Given the description of an element on the screen output the (x, y) to click on. 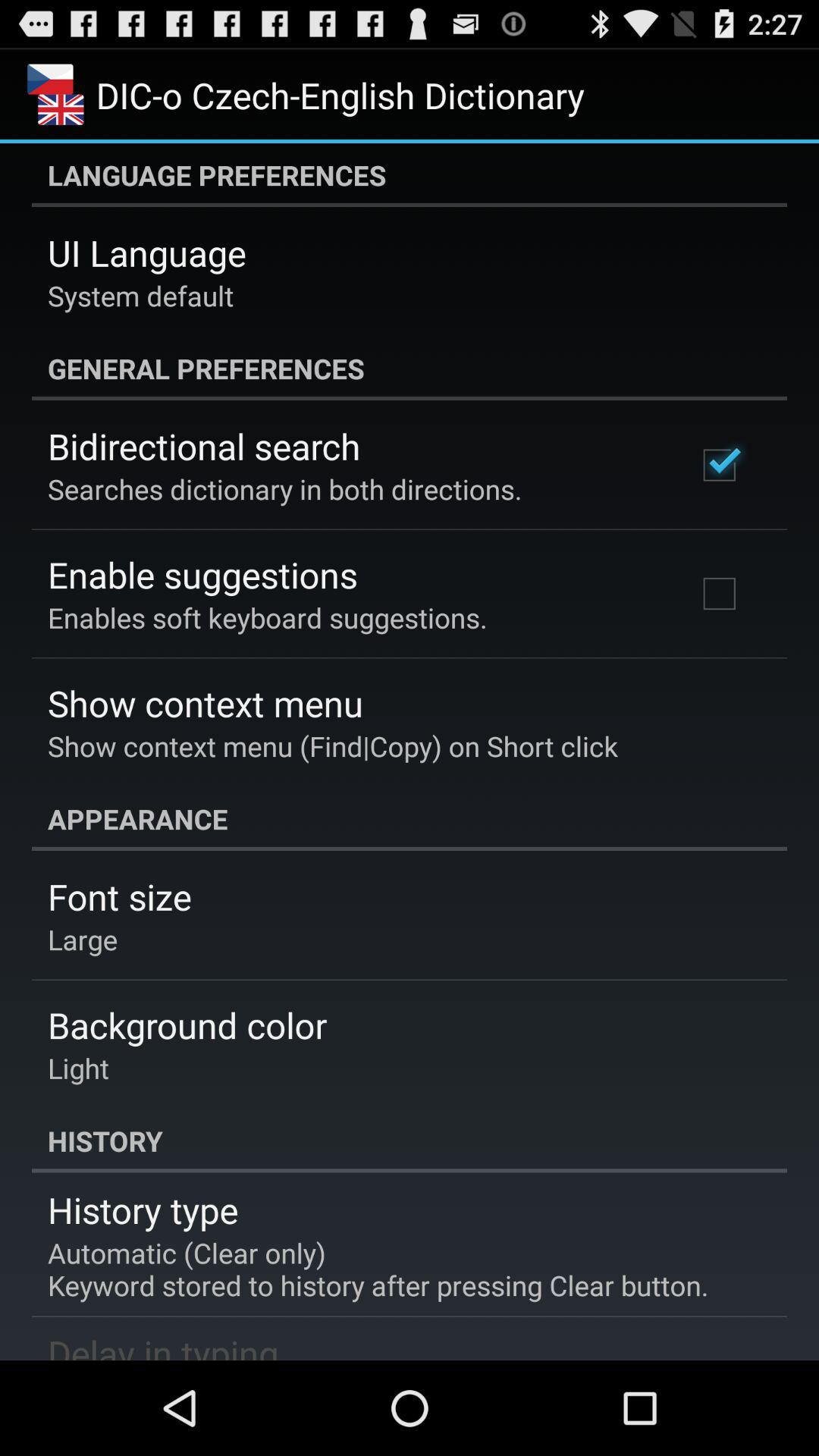
tap app above enable suggestions (284, 488)
